Given the description of an element on the screen output the (x, y) to click on. 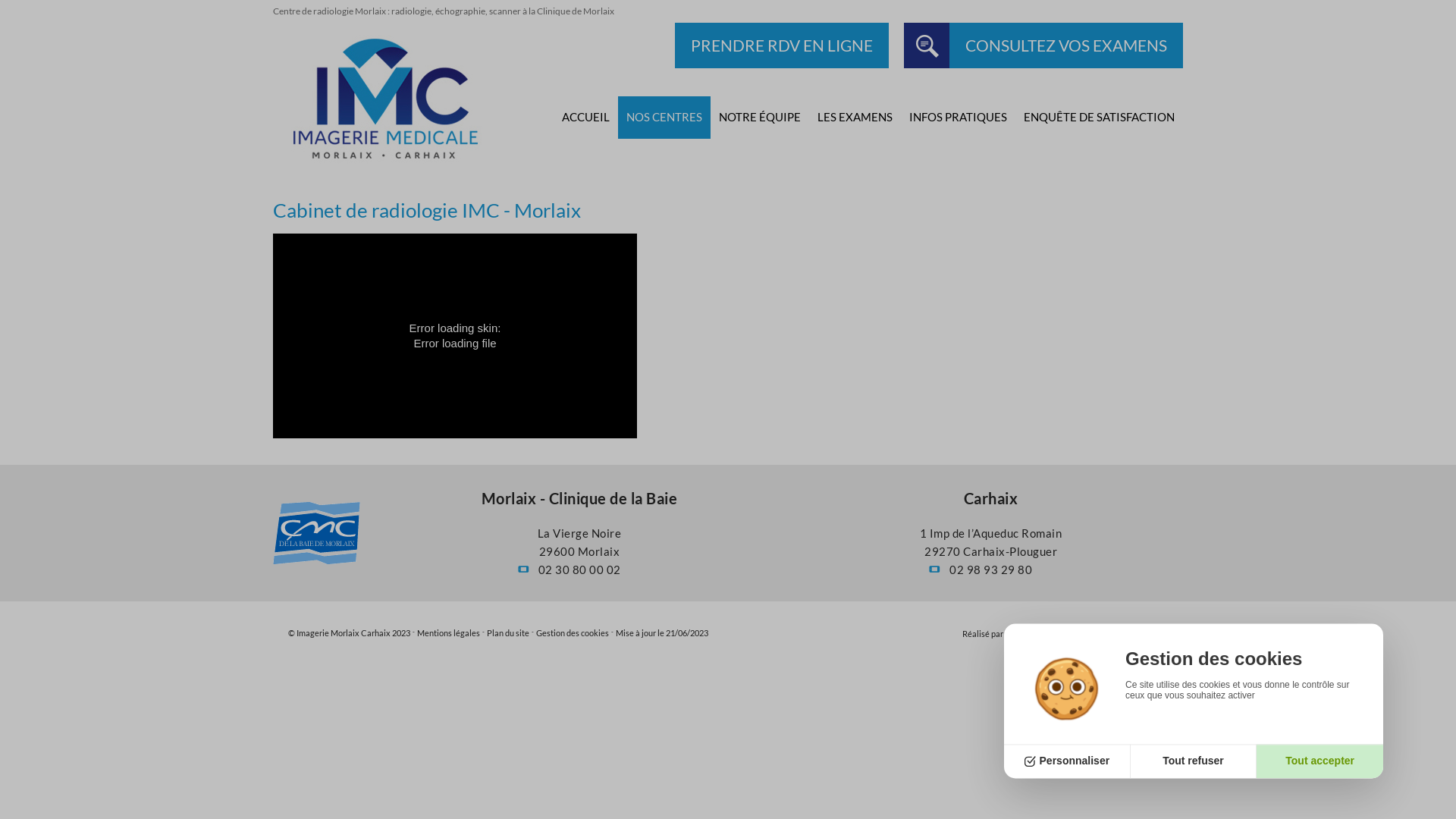
ACCUEIL Element type: text (585, 117)
PRENDRE RDV EN LIGNE Element type: text (781, 45)
CONSULTEZ VOS EXAMENS Element type: text (1043, 45)
Plan du site Element type: text (507, 632)
NOS CENTRES Element type: text (664, 117)
WebGazelle Element type: text (1100, 633)
Cognix Systems Element type: text (1033, 633)
LES EXAMENS Element type: text (854, 117)
Tout refuser Element type: text (1193, 760)
Tout accepter Element type: text (1319, 760)
INFOS PRATIQUES Element type: text (957, 117)
Personnaliser Element type: text (1067, 760)
Gestion des cookies Element type: text (572, 632)
